Given the description of an element on the screen output the (x, y) to click on. 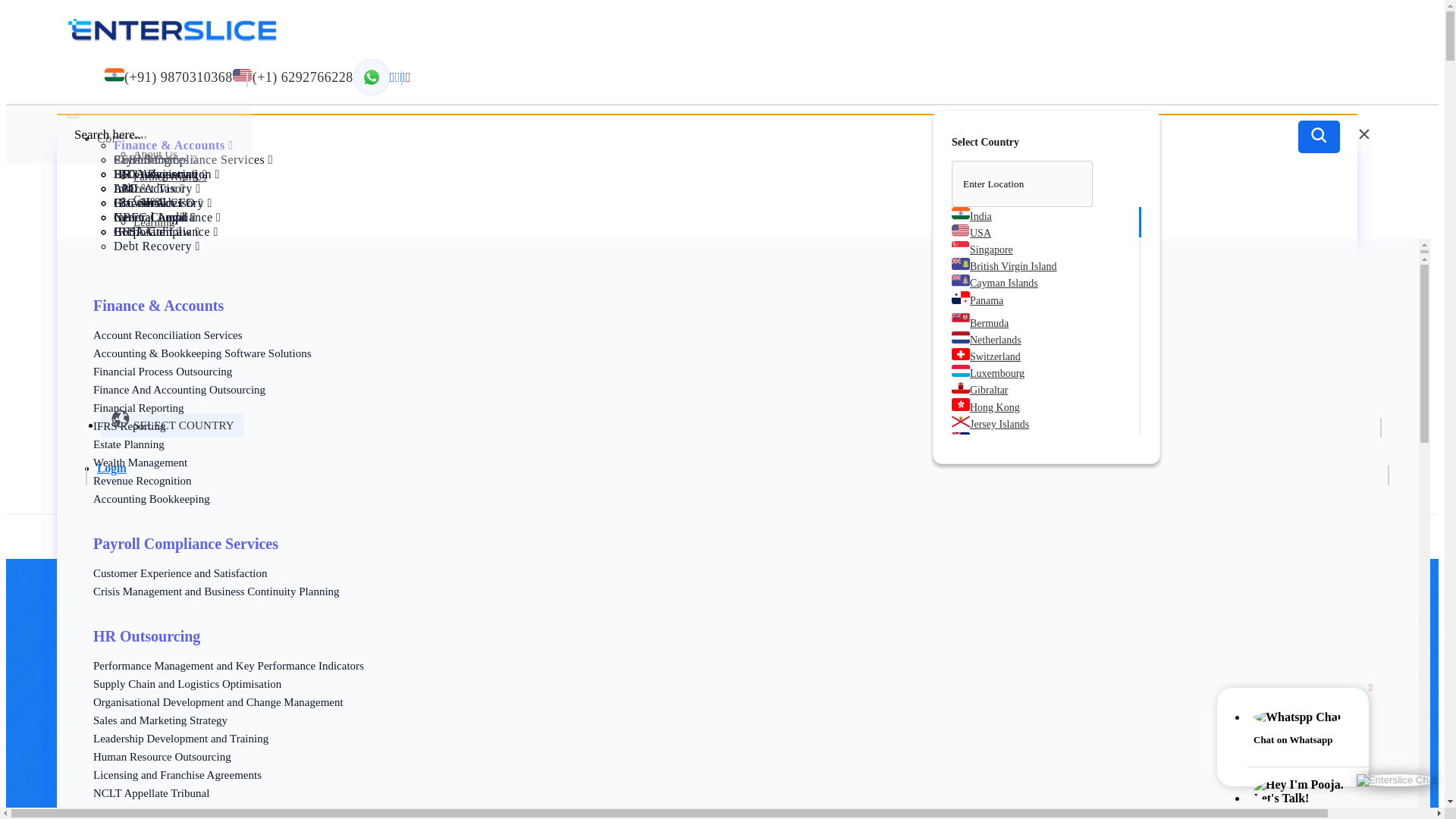
Industry Audit (155, 245)
Partner With Us (169, 174)
Intra Group Services Analysis (161, 422)
Media (147, 288)
Contact Us (158, 333)
Internal Audit (154, 216)
Newsletter (158, 265)
Growth Advisory (162, 202)
Whitepaper (159, 242)
Tax filing services for E-commerce (173, 404)
